Given the description of an element on the screen output the (x, y) to click on. 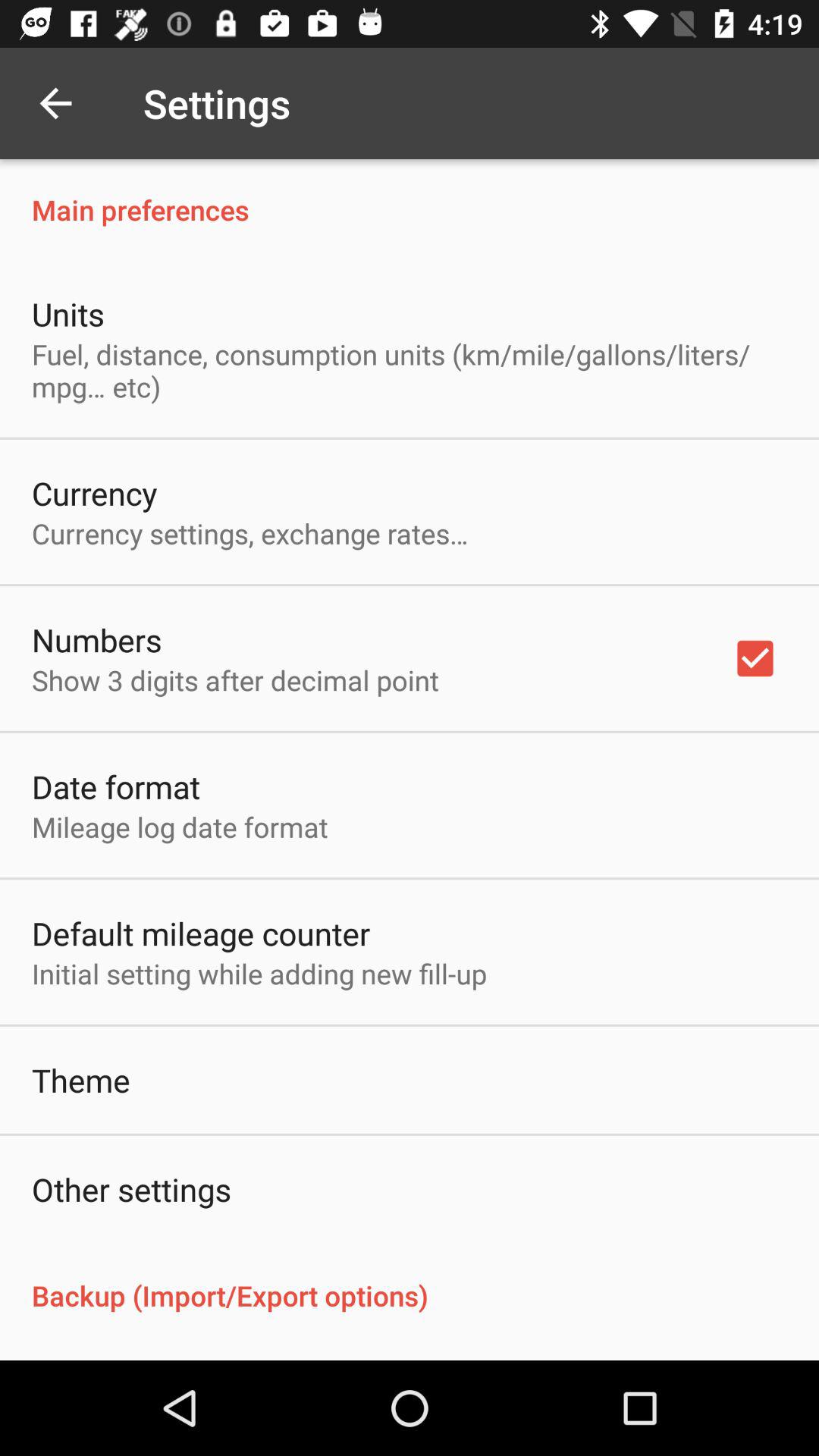
tap icon above main preferences (55, 103)
